Given the description of an element on the screen output the (x, y) to click on. 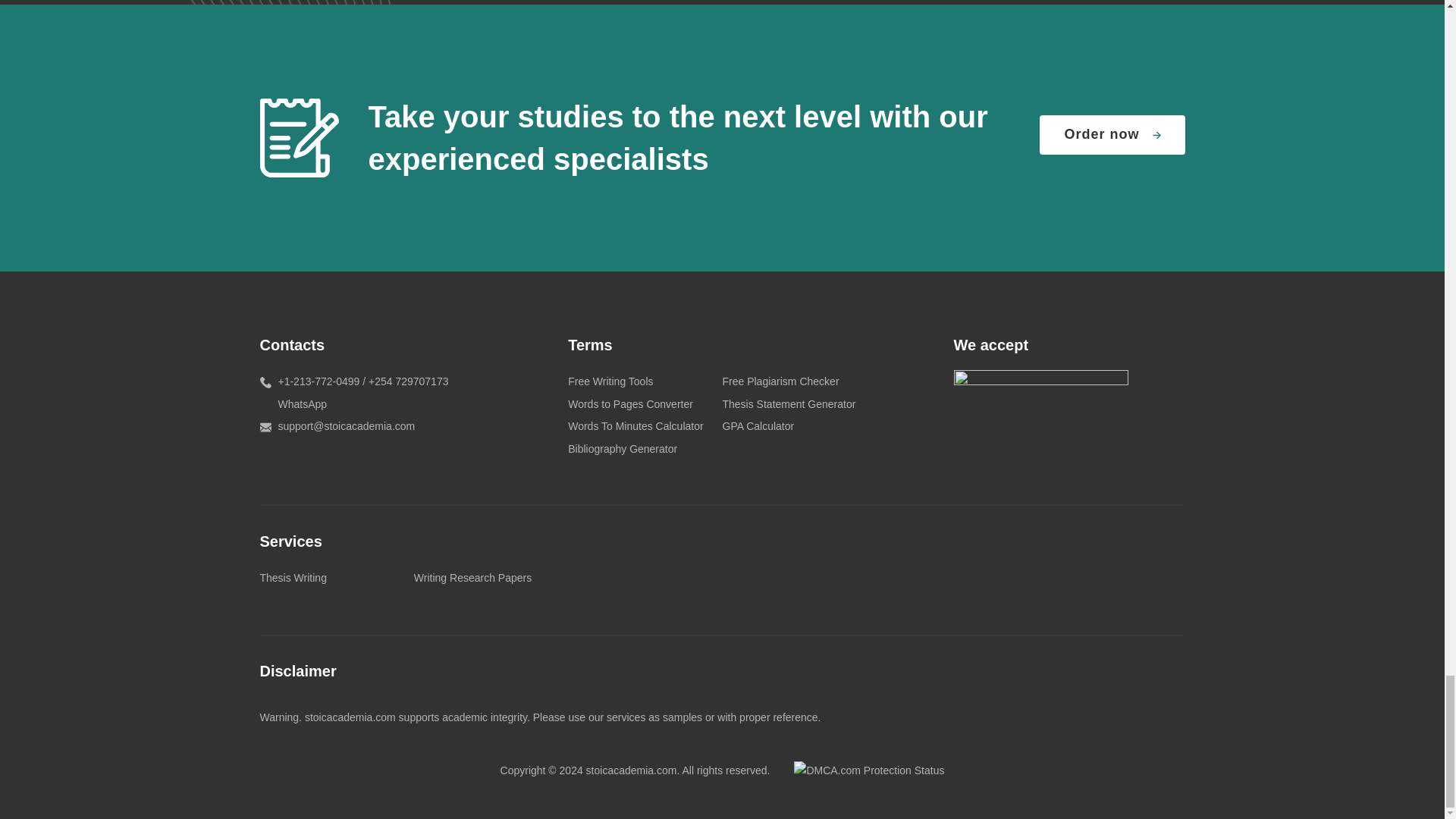
Words To Minutes Calculator (635, 426)
GPA Calculator (757, 426)
Thesis Writing (292, 577)
Writing Research Papers (472, 577)
Free Writing Tools (609, 381)
Free Plagiarism Checker (780, 381)
Thesis Statement Generator (789, 404)
Order now (1112, 134)
Bibliography Generator (622, 449)
Words to Pages Converter (630, 404)
